Given the description of an element on the screen output the (x, y) to click on. 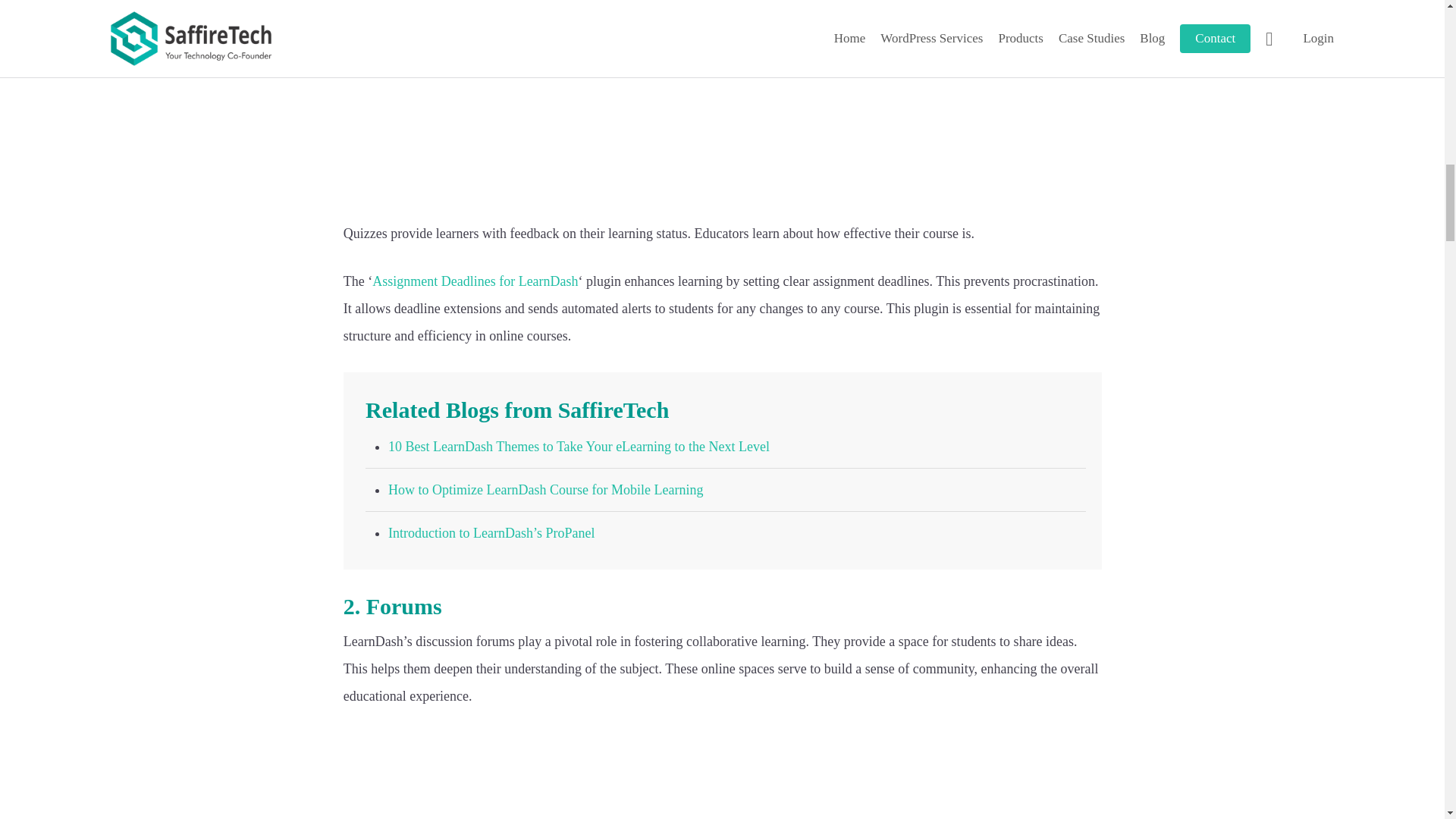
How to Optimize LearnDash Course for Mobile Learning (545, 489)
Assignment Deadlines for LearnDash (475, 281)
